Given the description of an element on the screen output the (x, y) to click on. 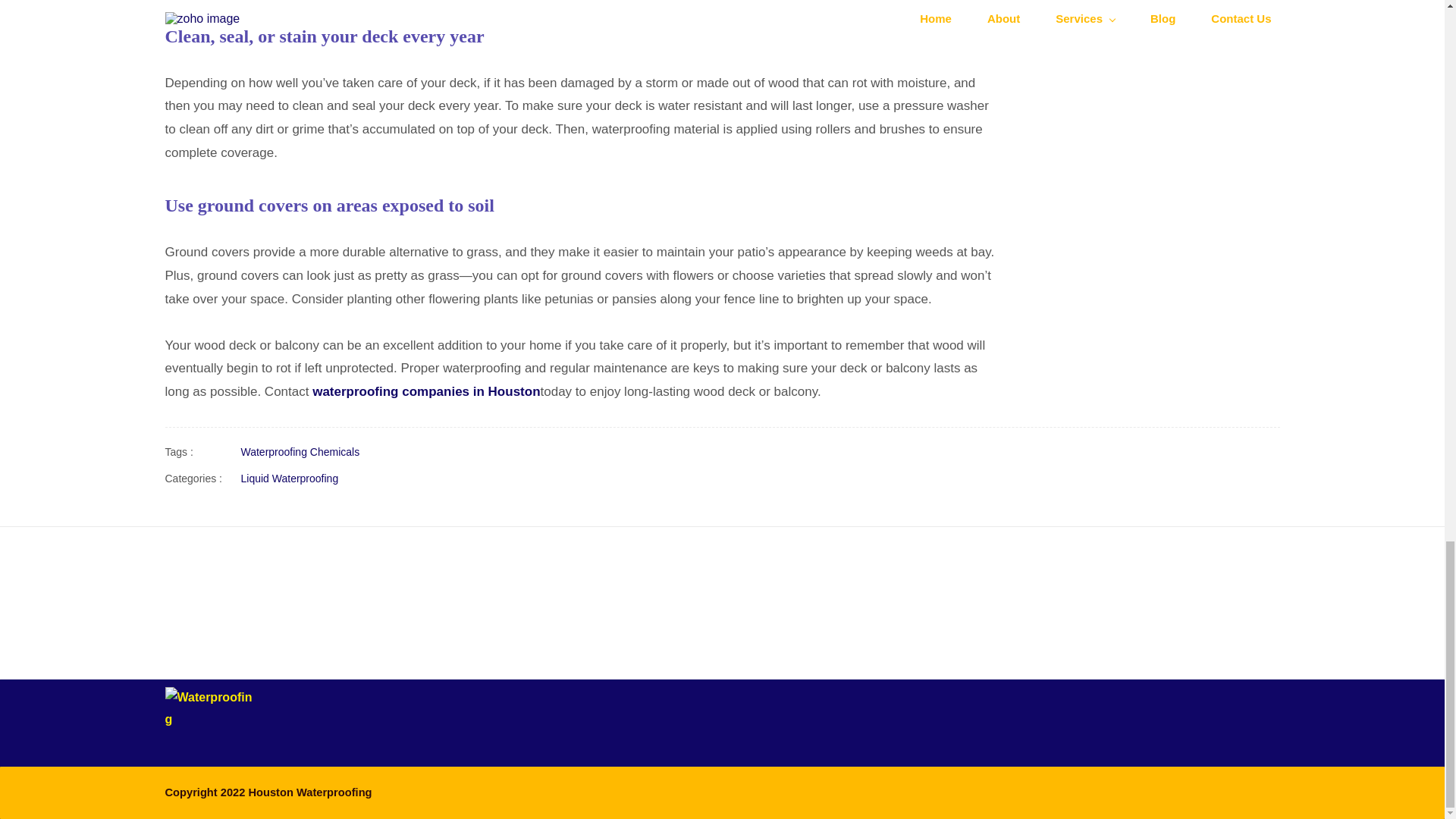
Waterproofing (208, 726)
Waterproofing Chemicals (300, 452)
waterproofing companies in Houston (426, 391)
waterproofing companies in Houston (426, 391)
Liquid Waterproofing (290, 478)
